Given the description of an element on the screen output the (x, y) to click on. 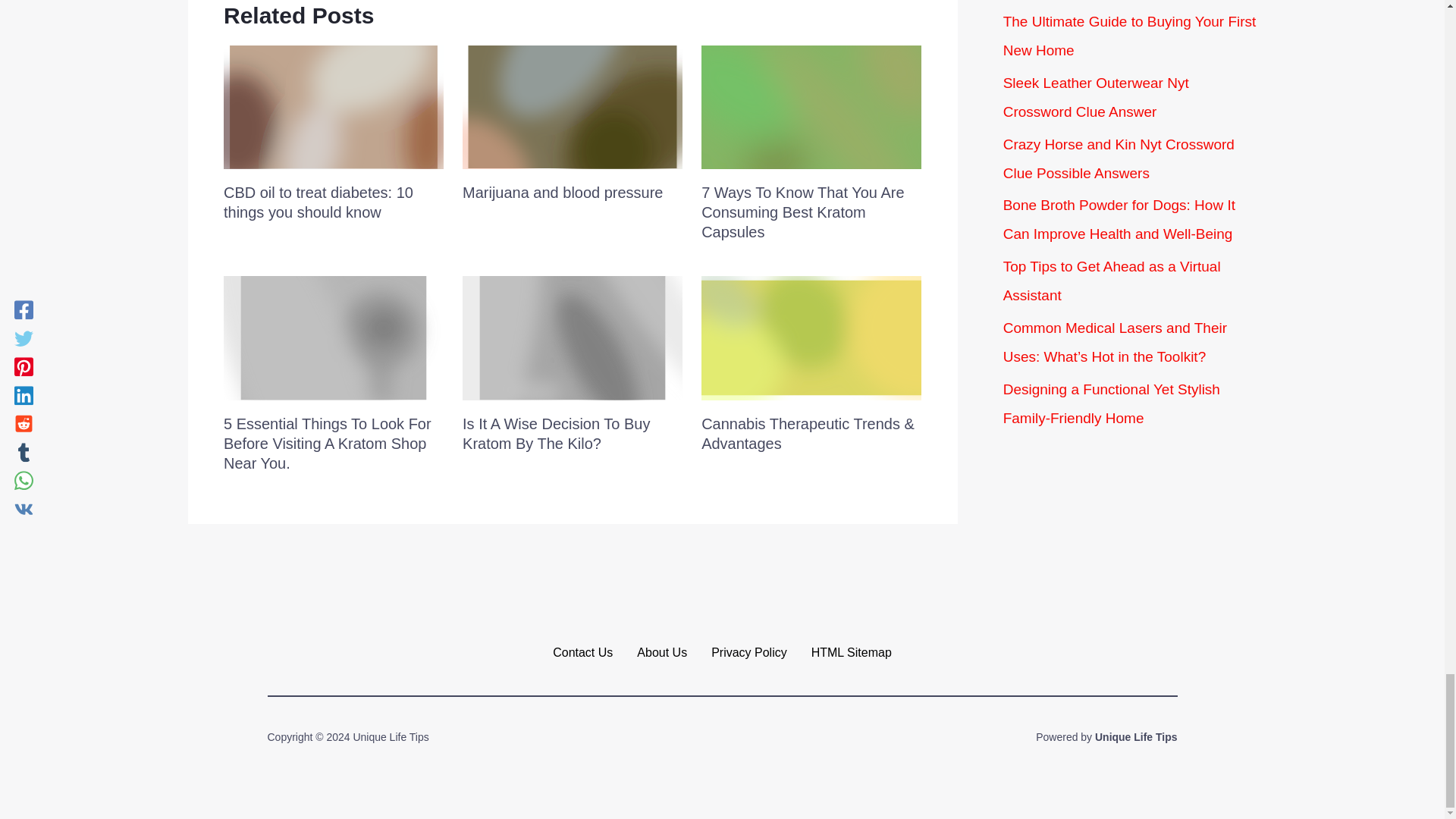
Kratom 11zon (572, 337)
Kratom Shop 11zon (334, 337)
Screenshot 87 11zon (811, 337)
Diabetes 11zon (334, 106)
f0a86b59 5ed6 4521 8d42 005e3509d617 11zon (811, 106)
